Given the description of an element on the screen output the (x, y) to click on. 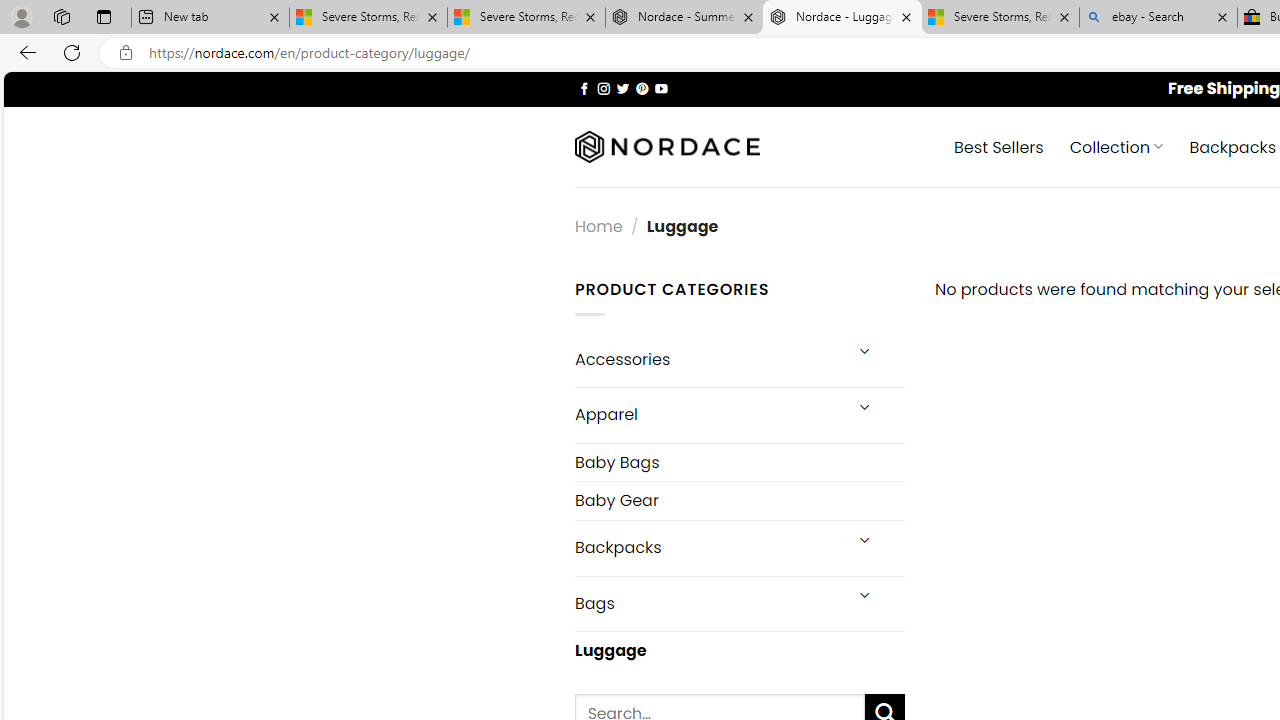
Luggage (739, 651)
Follow on Facebook (584, 88)
Bags (706, 603)
ebay - Search (1158, 17)
Nordace (667, 147)
Home (598, 227)
Nordace - Summer Adventures 2024 (683, 17)
Follow on Twitter (621, 88)
New tab (210, 17)
